Given the description of an element on the screen output the (x, y) to click on. 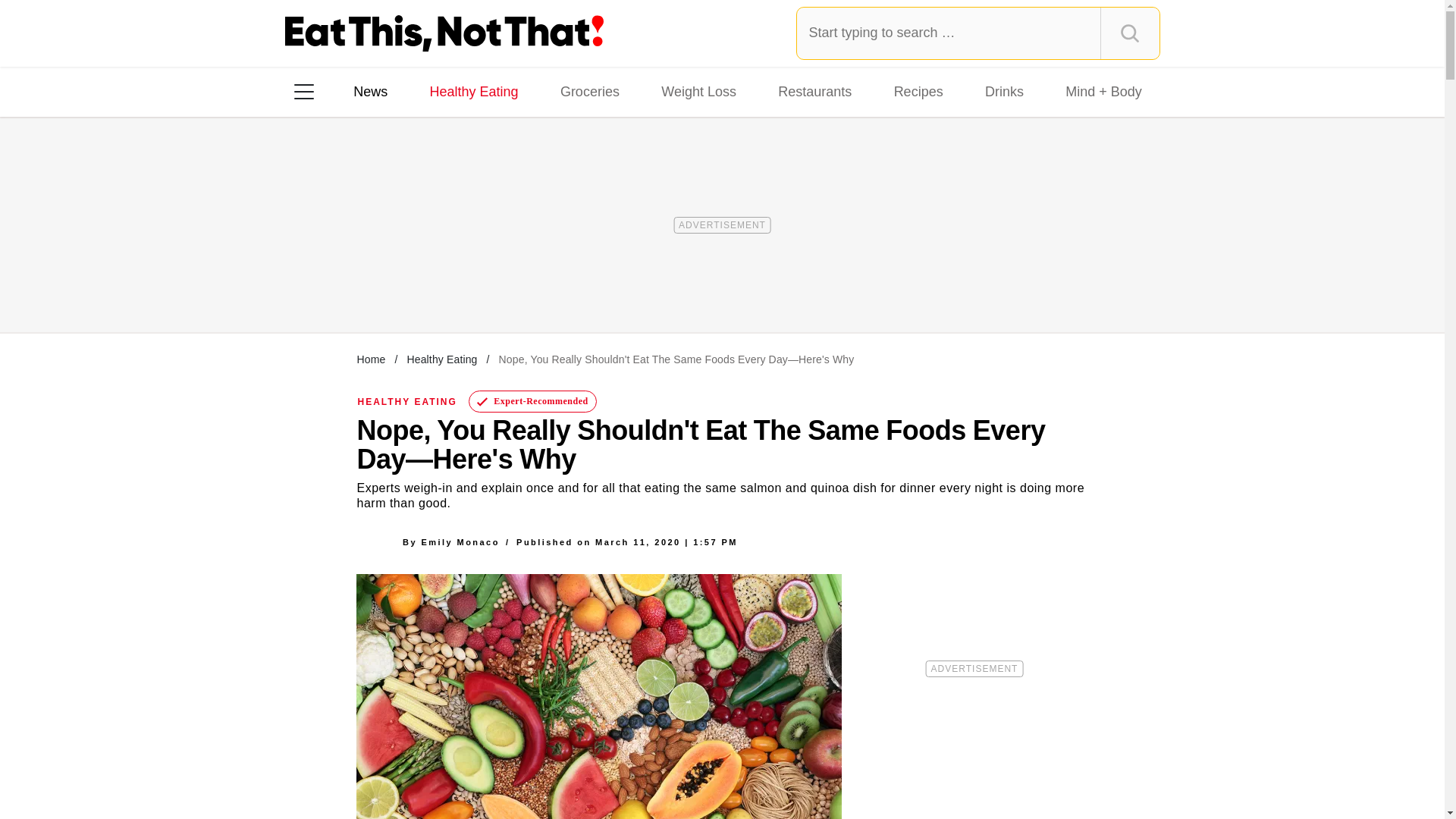
HEALTHY EATING (407, 401)
Type and press Enter to search (978, 32)
Groceries (590, 91)
News (370, 91)
Pinterest (443, 287)
Eat This Not That Homepage (444, 33)
Restaurants (814, 91)
Weight Loss (698, 91)
Instagram (357, 287)
Healthy Eating (473, 91)
